Given the description of an element on the screen output the (x, y) to click on. 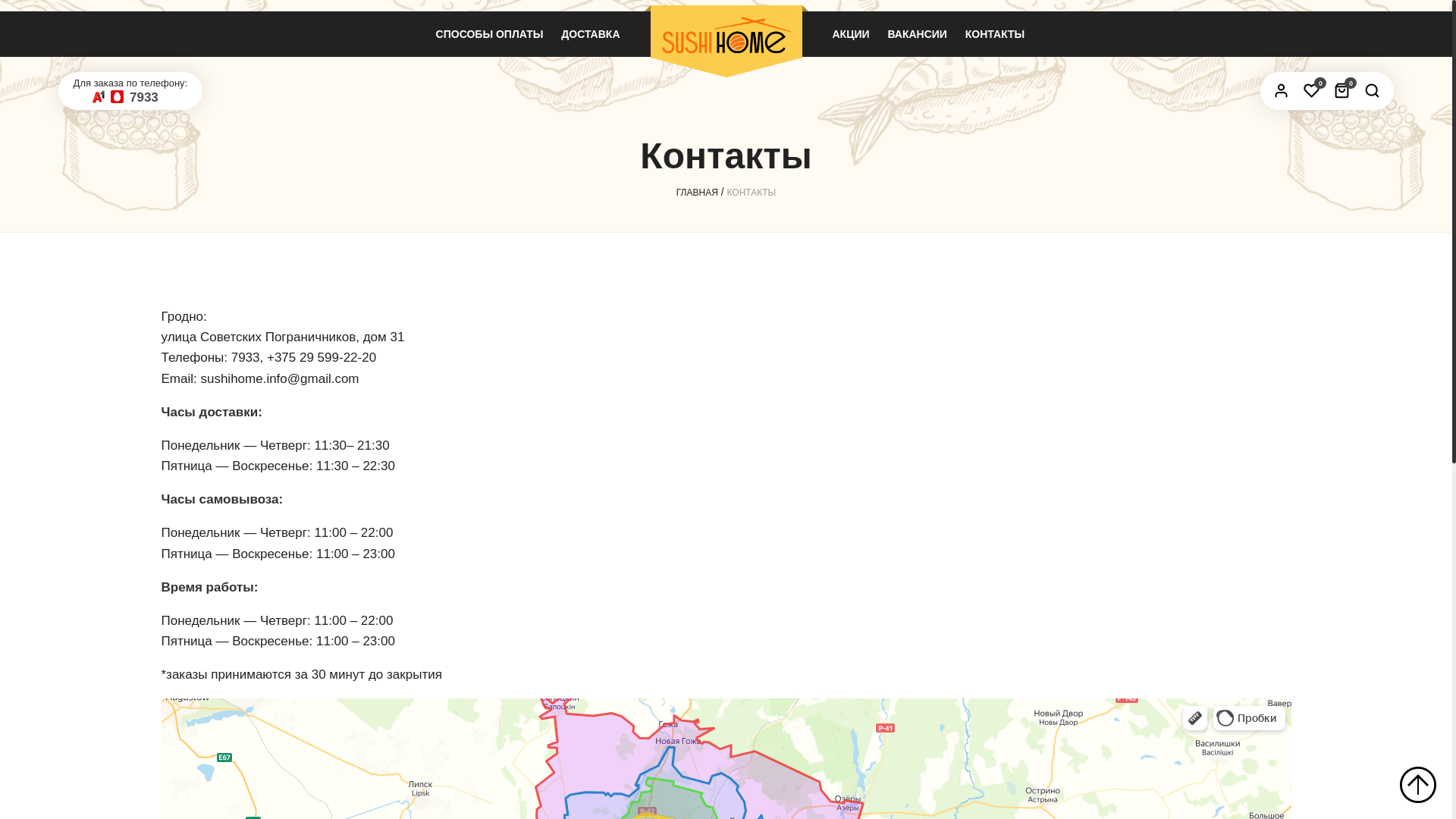
0 Element type: text (1341, 89)
7933 Element type: text (143, 97)
0 Element type: text (1311, 89)
